Given the description of an element on the screen output the (x, y) to click on. 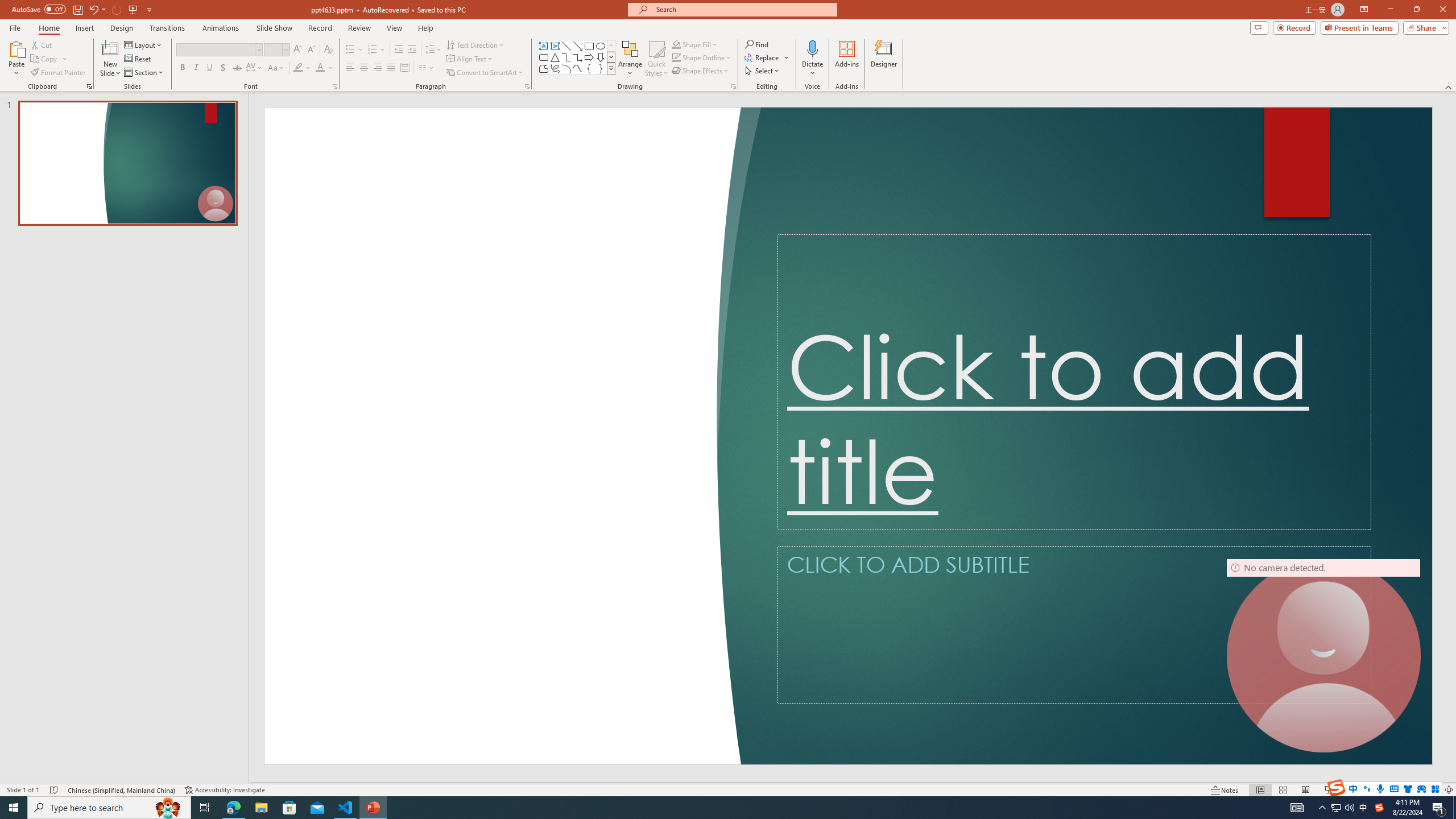
Shape Outline Dark Red, Accent 1 (675, 56)
Rectangle (589, 45)
Reset (138, 58)
Freeform: Scribble (554, 68)
Right Brace (600, 68)
Oval (600, 45)
